Given the description of an element on the screen output the (x, y) to click on. 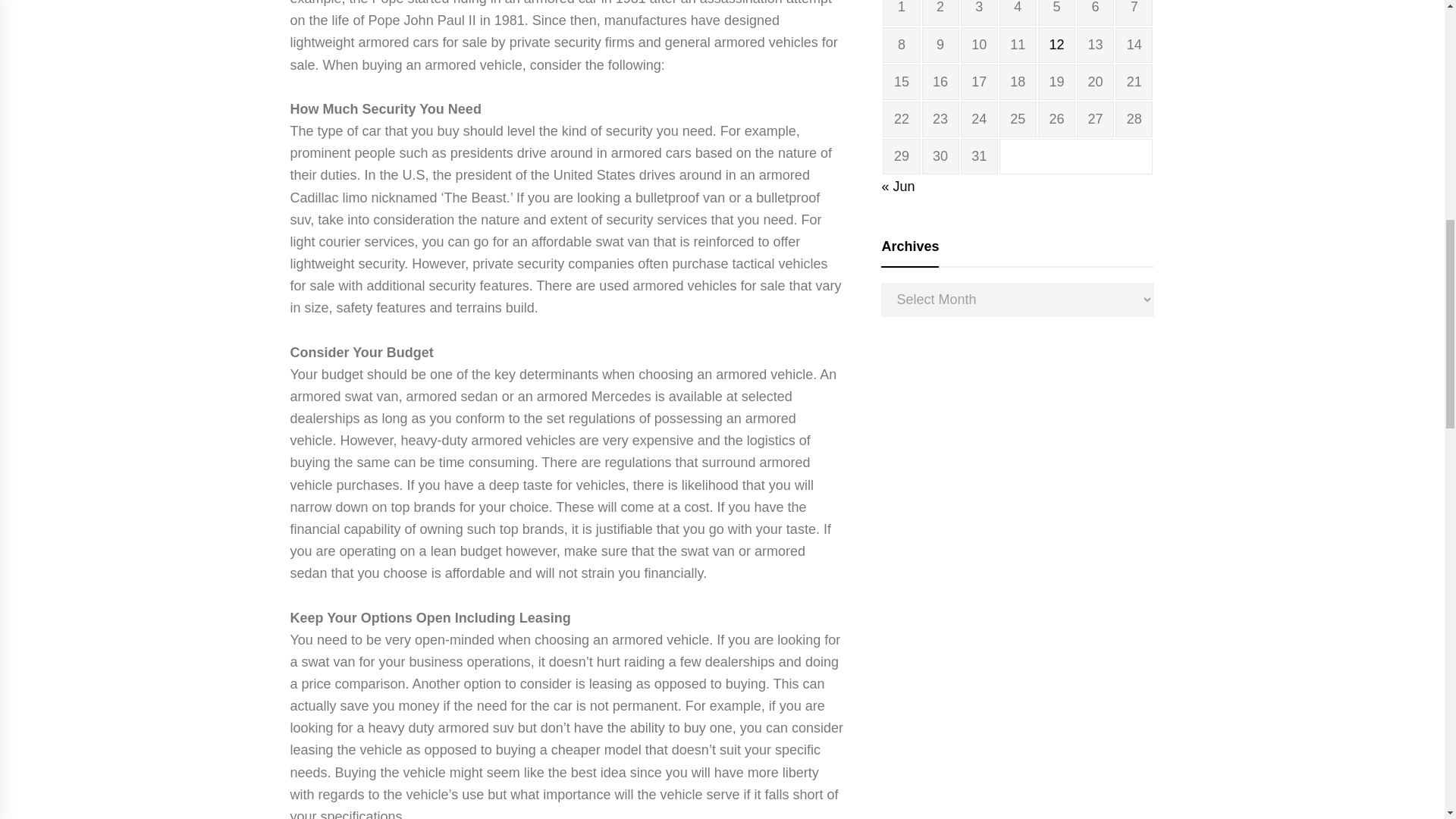
12 (1056, 44)
